Given the description of an element on the screen output the (x, y) to click on. 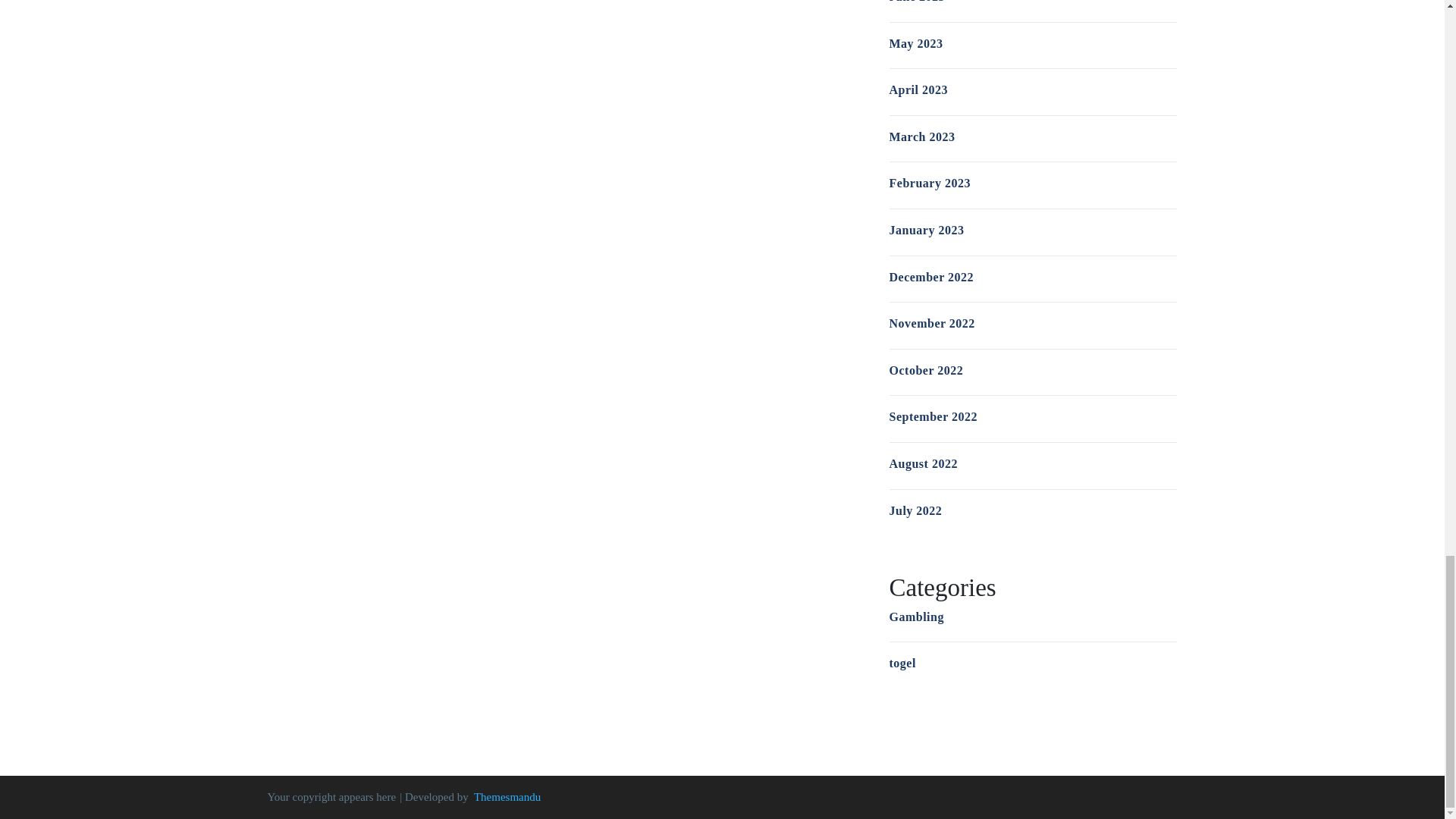
April 2023 (917, 89)
December 2022 (931, 277)
March 2023 (921, 136)
November 2022 (931, 323)
September 2022 (932, 416)
February 2023 (928, 182)
June 2023 (915, 1)
October 2022 (925, 369)
January 2023 (925, 229)
May 2023 (915, 42)
